Given the description of an element on the screen output the (x, y) to click on. 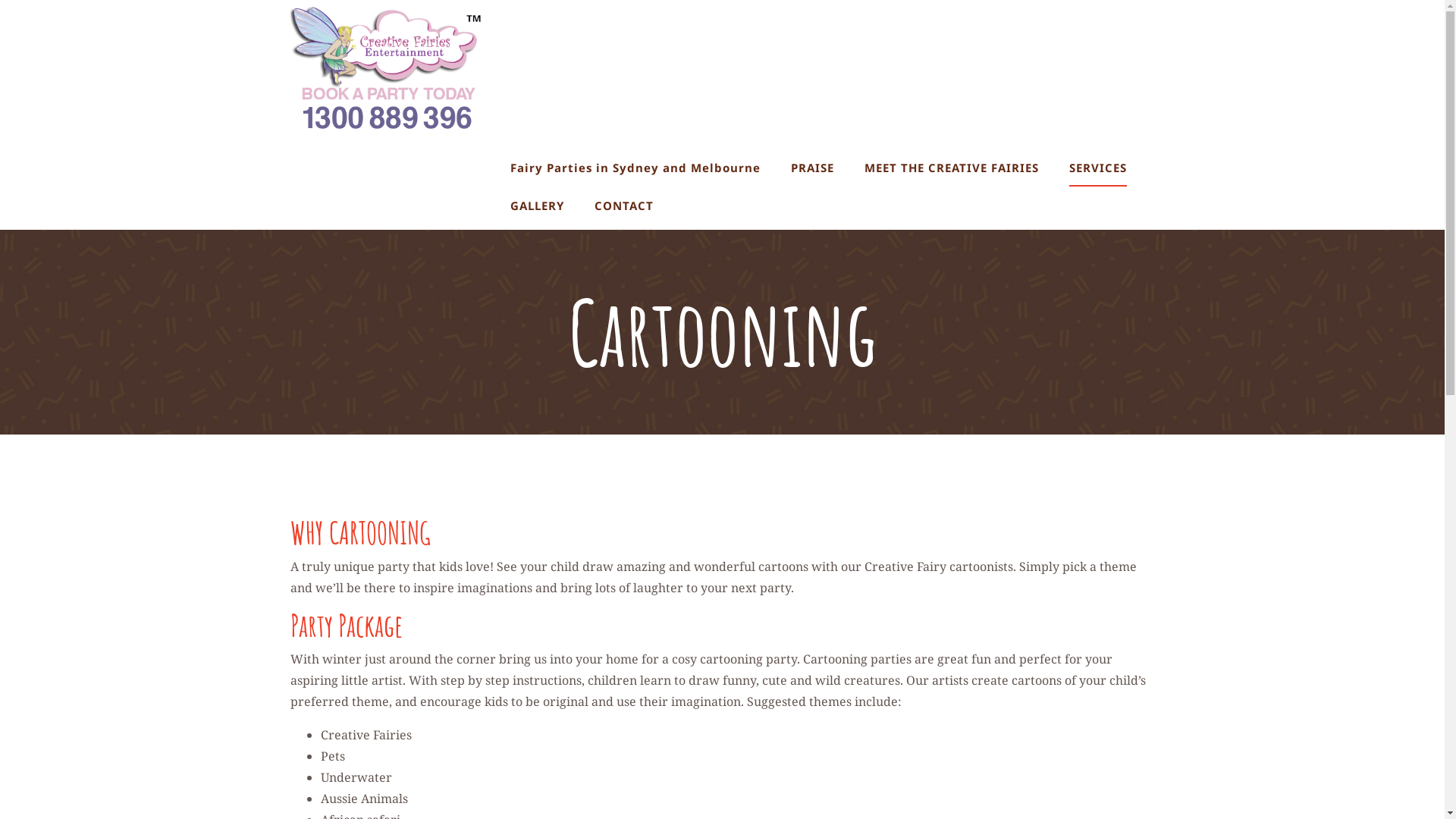
SERVICES Element type: text (1097, 167)
MEET THE CREATIVE FAIRIES Element type: text (951, 167)
PRAISE Element type: text (812, 167)
CONTACT Element type: text (623, 205)
Fairy Parties in Sydney and Melbourne Element type: text (635, 167)
GALLERY Element type: text (537, 205)
